Given the description of an element on the screen output the (x, y) to click on. 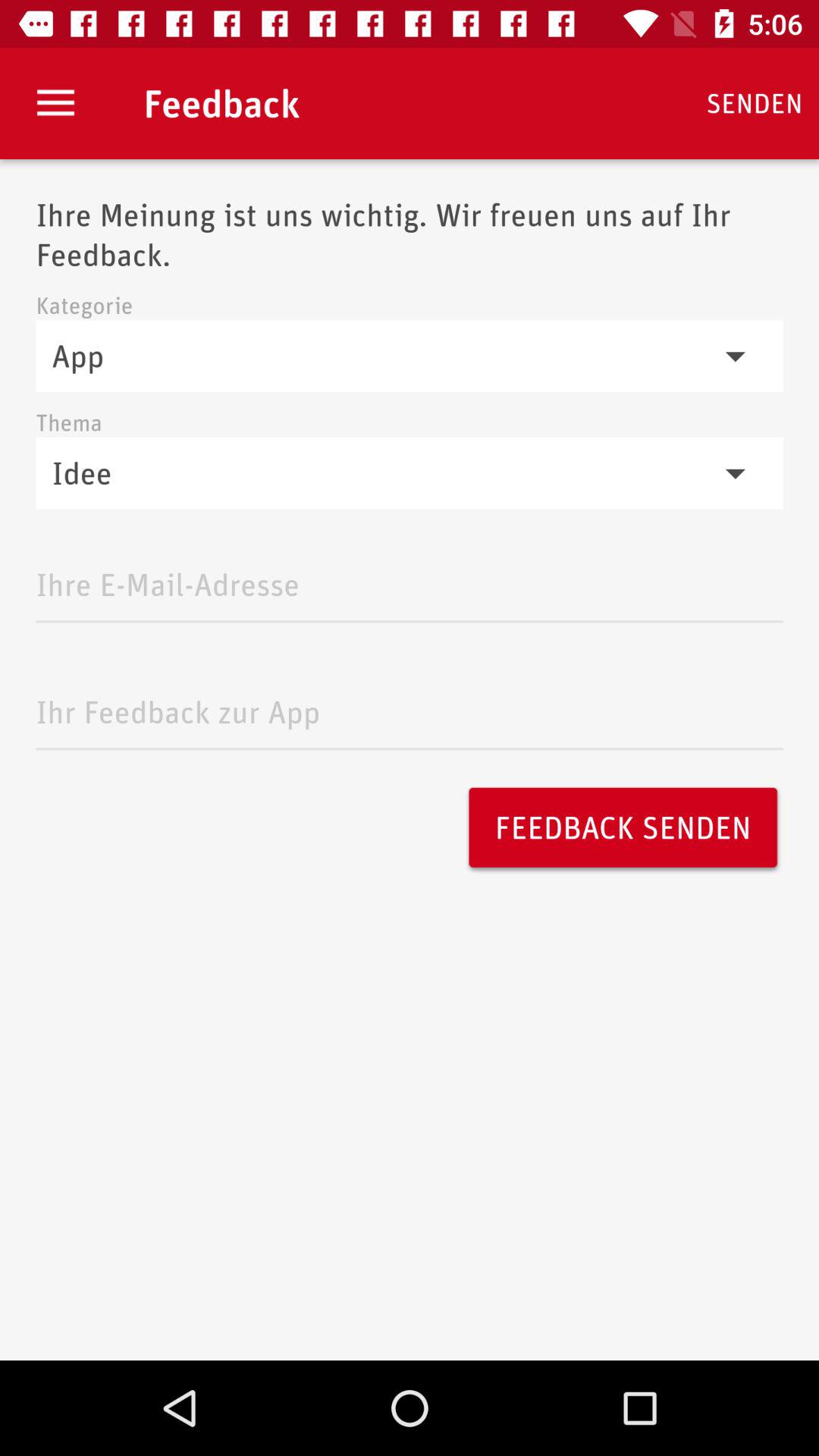
open icon to the left of feedback icon (55, 103)
